Given the description of an element on the screen output the (x, y) to click on. 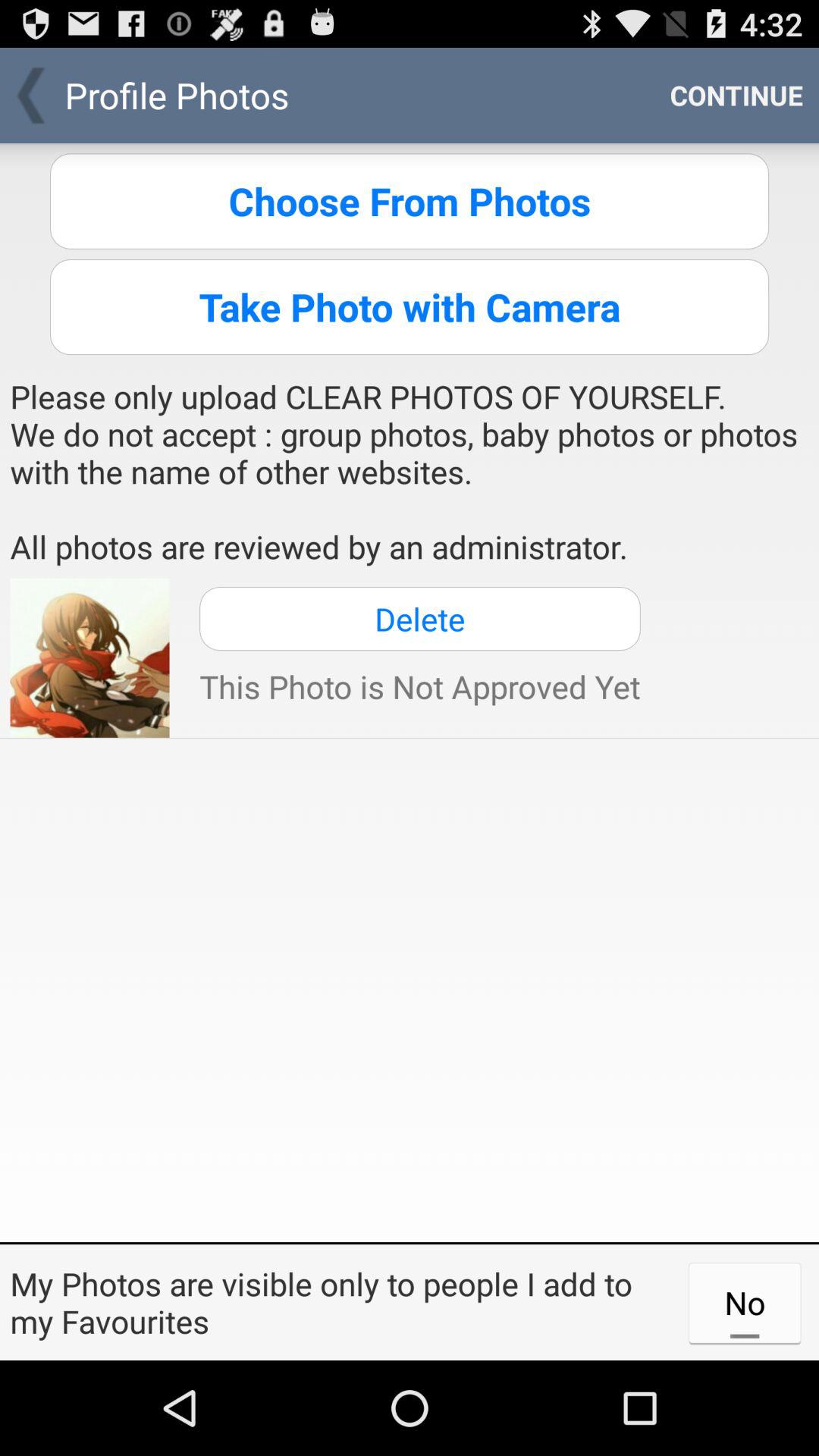
launch the choose from photos (409, 201)
